Given the description of an element on the screen output the (x, y) to click on. 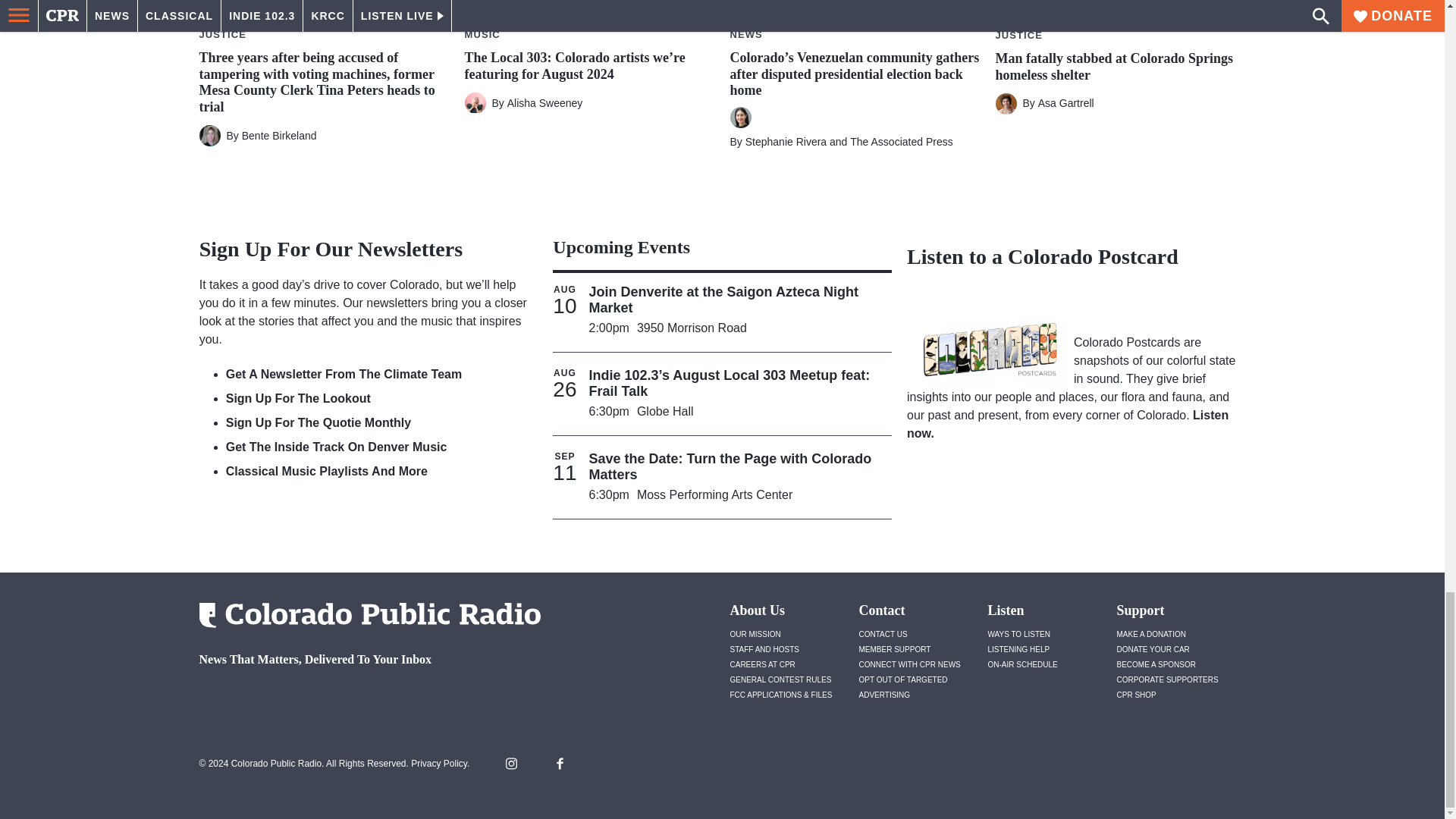
footer (364, 699)
